Given the description of an element on the screen output the (x, y) to click on. 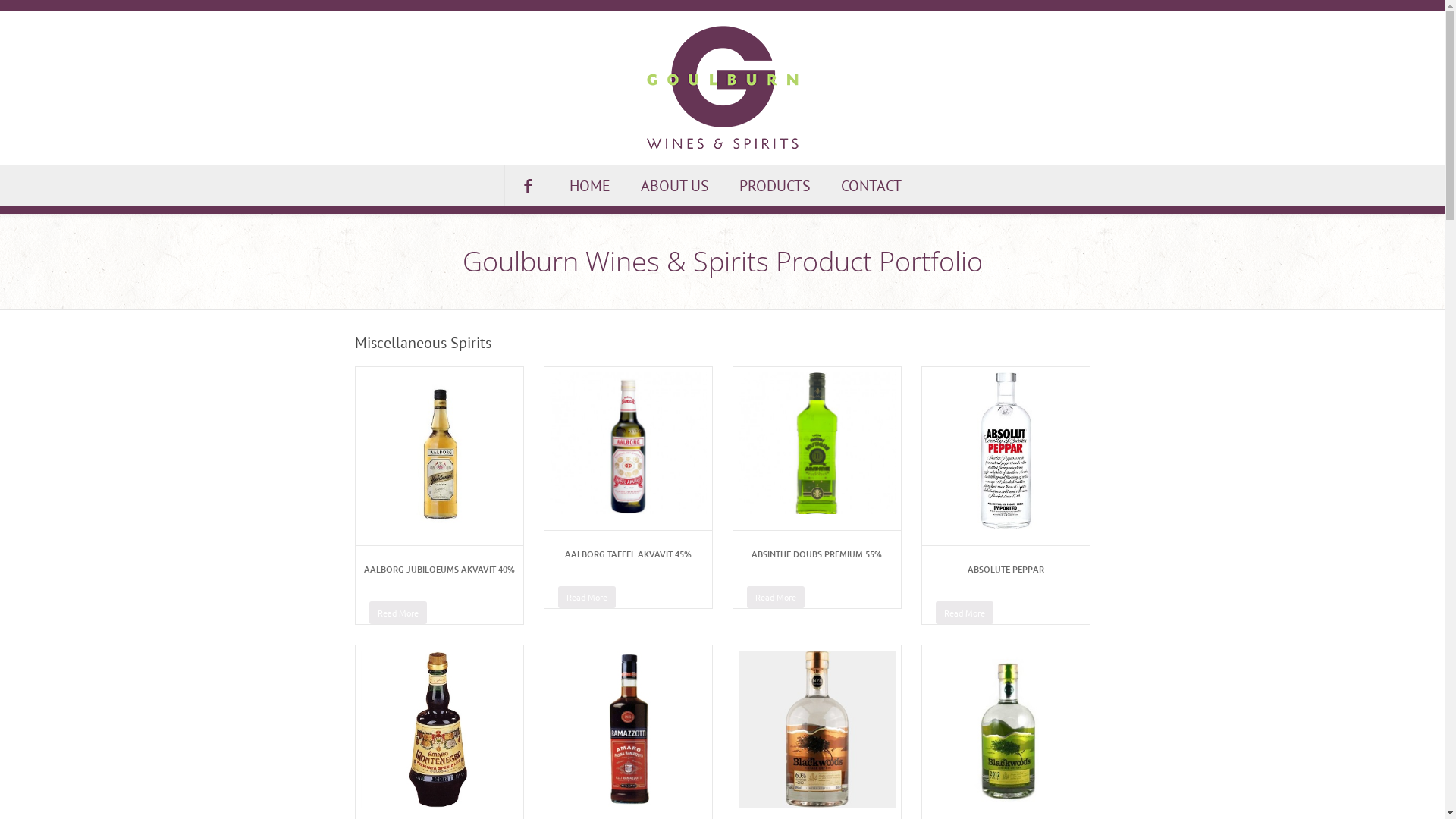
Read More Element type: text (775, 597)
HOME Element type: text (588, 185)
ABSOLUTE PEPPAR Element type: text (1005, 492)
ABSINTHE DOUBS PREMIUM 55% Element type: text (816, 484)
Read More Element type: text (397, 612)
CONTACT Element type: text (870, 185)
Read More Element type: text (964, 612)
ABOUT US Element type: text (673, 185)
Read More Element type: text (586, 597)
AALBORG TAFFEL AKVAVIT 45% Element type: text (628, 484)
AALBORG JUBILOEUMS AKVAVIT 40% Element type: text (438, 492)
PRODUCTS Element type: text (774, 185)
